Given the description of an element on the screen output the (x, y) to click on. 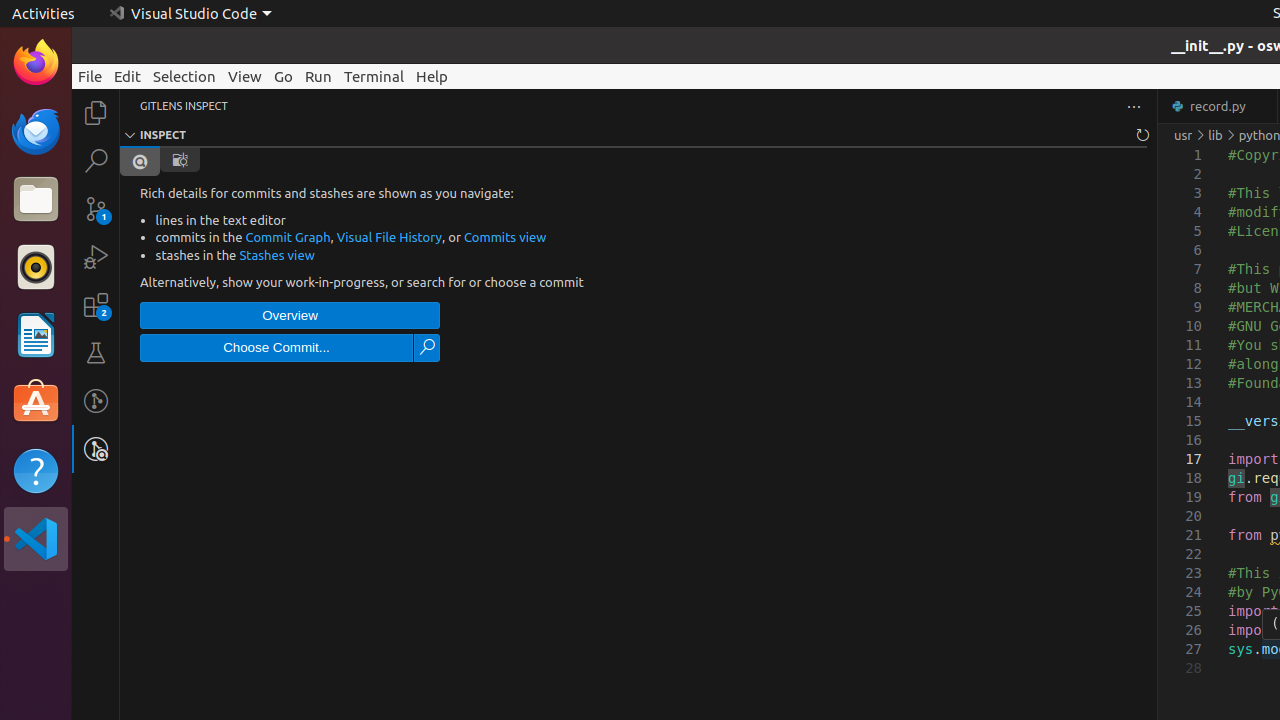
Run Element type: push-button (318, 76)
 Element type: push-button (427, 348)
View Element type: push-button (245, 76)
